Given the description of an element on the screen output the (x, y) to click on. 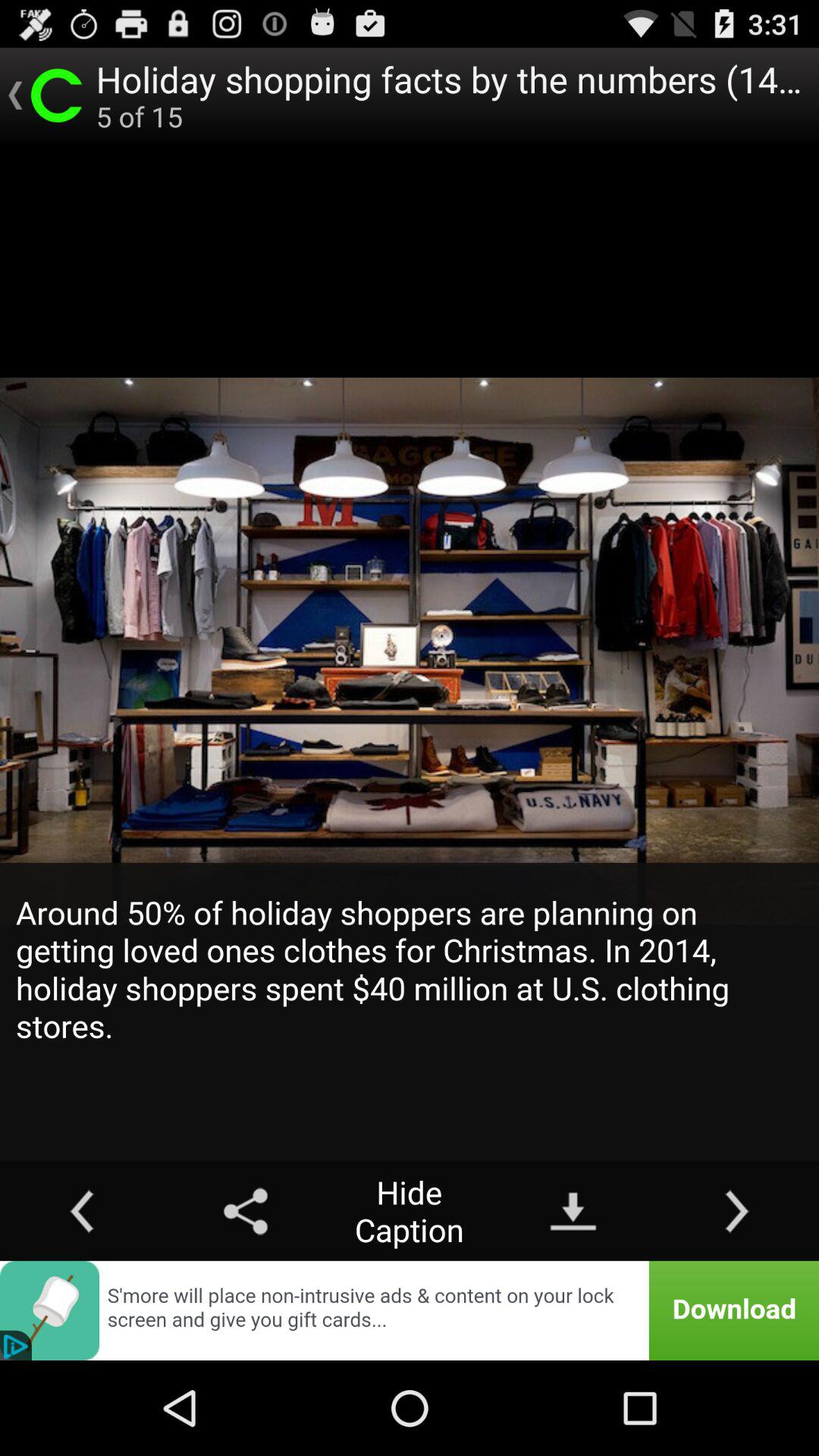
turn off the icon to the right of the hide caption button (573, 1210)
